Given the description of an element on the screen output the (x, y) to click on. 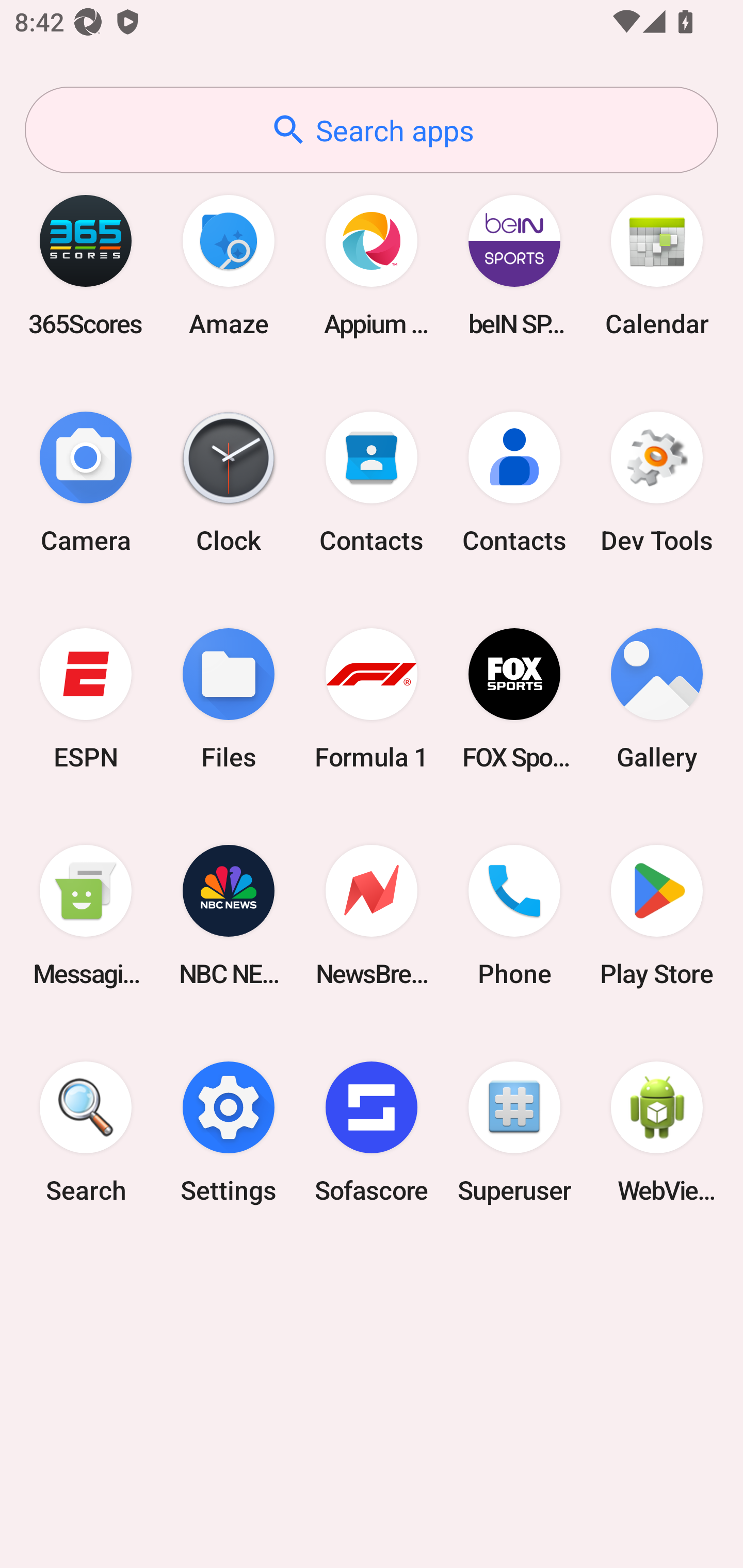
  Search apps (371, 130)
365Scores (85, 264)
Amaze (228, 264)
Appium Settings (371, 264)
beIN SPORTS (514, 264)
Calendar (656, 264)
Camera (85, 482)
Clock (228, 482)
Contacts (371, 482)
Contacts (514, 482)
Dev Tools (656, 482)
ESPN (85, 699)
Files (228, 699)
Formula 1 (371, 699)
FOX Sports (514, 699)
Gallery (656, 699)
Messaging (85, 915)
NBC NEWS (228, 915)
NewsBreak (371, 915)
Phone (514, 915)
Play Store (656, 915)
Search (85, 1131)
Settings (228, 1131)
Sofascore (371, 1131)
Superuser (514, 1131)
WebView Browser Tester (656, 1131)
